Given the description of an element on the screen output the (x, y) to click on. 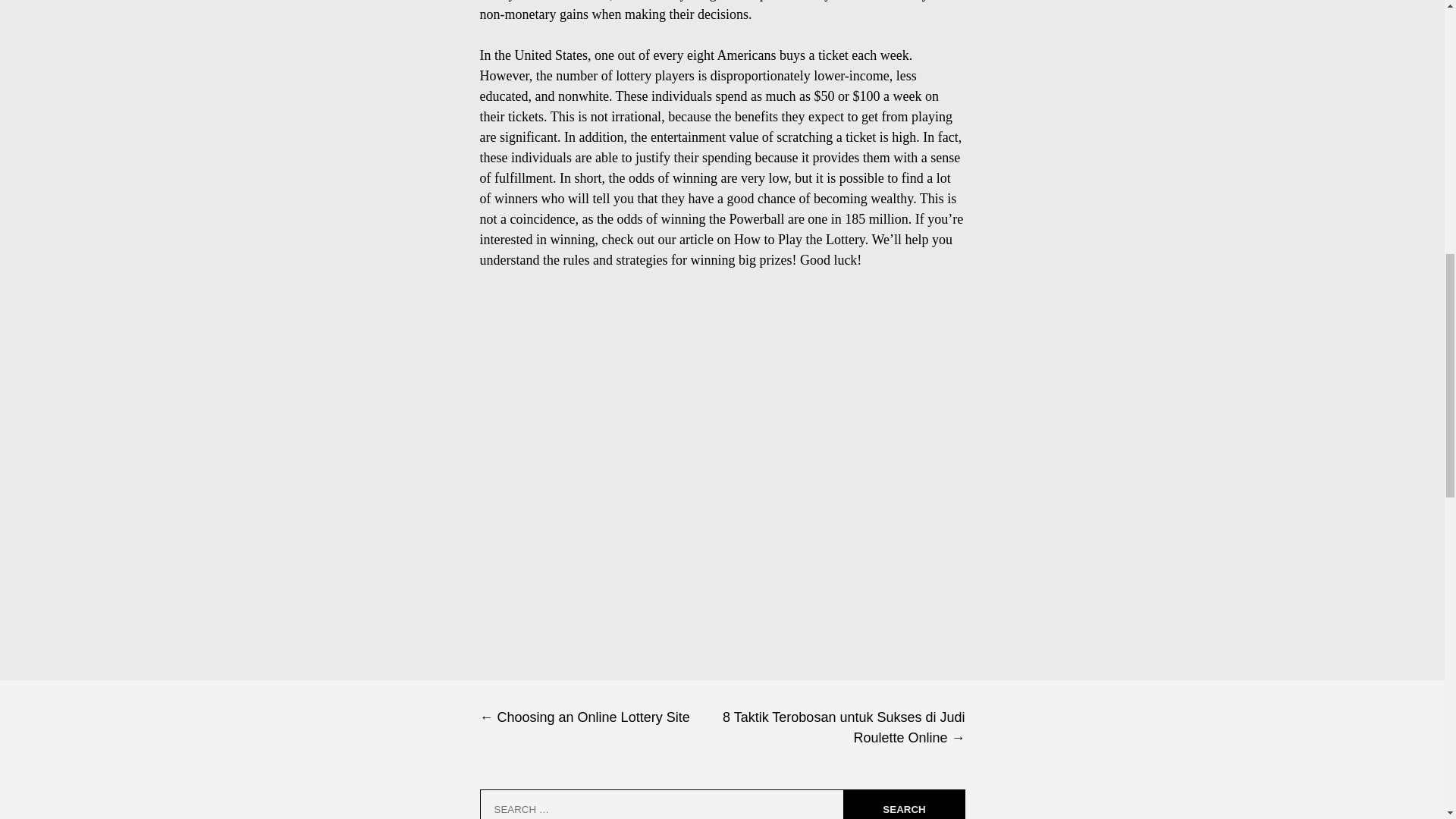
Search (903, 804)
Search (903, 804)
Search (903, 804)
8 Taktik Terobosan untuk Sukses di Judi Roulette Online (842, 727)
Choosing an Online Lottery Site (600, 717)
